Given the description of an element on the screen output the (x, y) to click on. 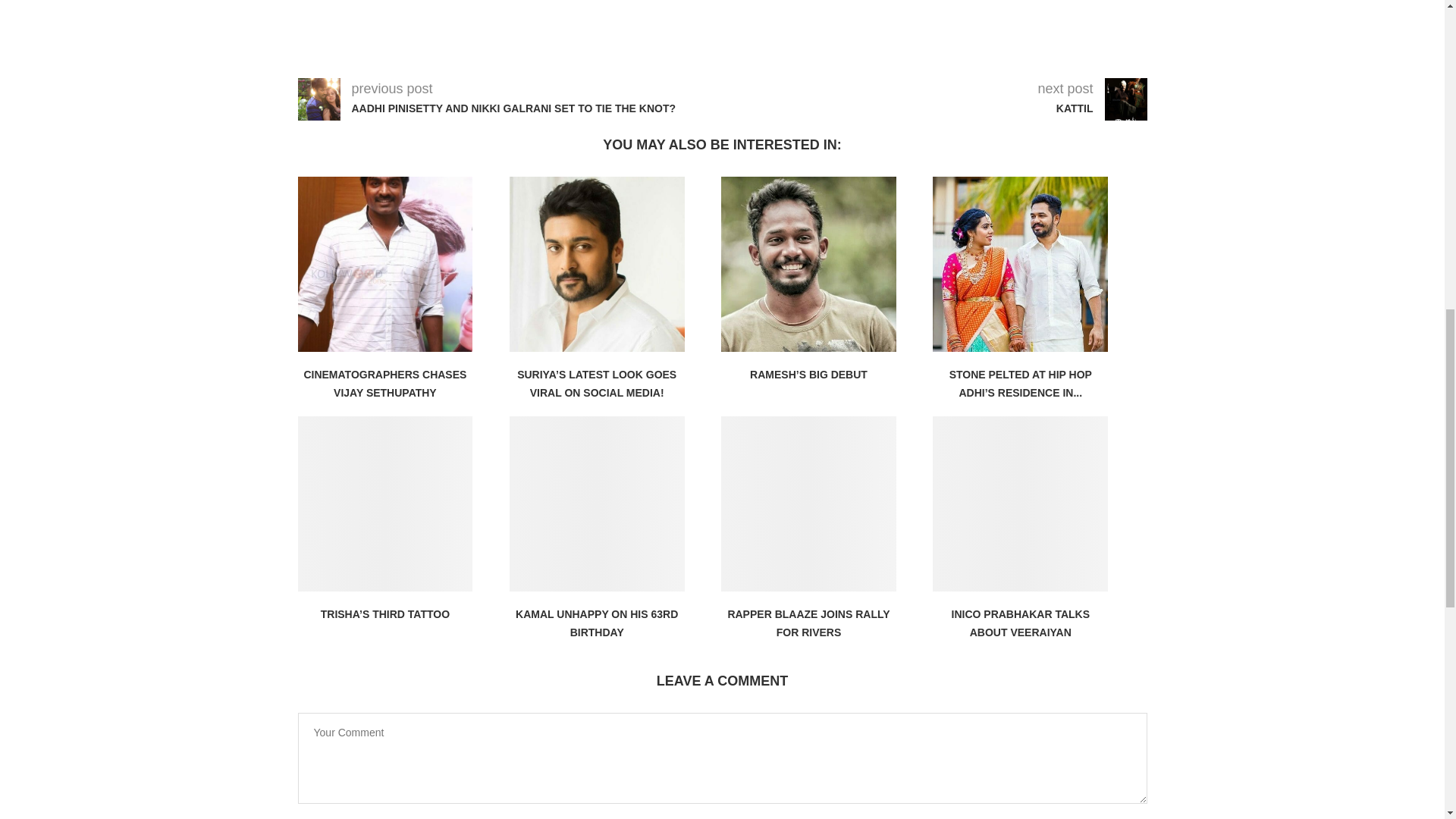
CINEMATOGRAPHERS CHASES VIJAY SETHUPATHY (383, 383)
AADHI PINISETTY AND NIKKI GALRANI SET TO TIE THE KNOT? (523, 109)
Cinematographers chases Vijay Sethupathy (384, 264)
Inico Prabhakar talks about Veeraiyan (1020, 503)
KATTIL (1064, 109)
Rapper Blaaze Joins Rally for Rivers (808, 503)
Kamal unhappy on his 63rd Birthday (596, 503)
